Given the description of an element on the screen output the (x, y) to click on. 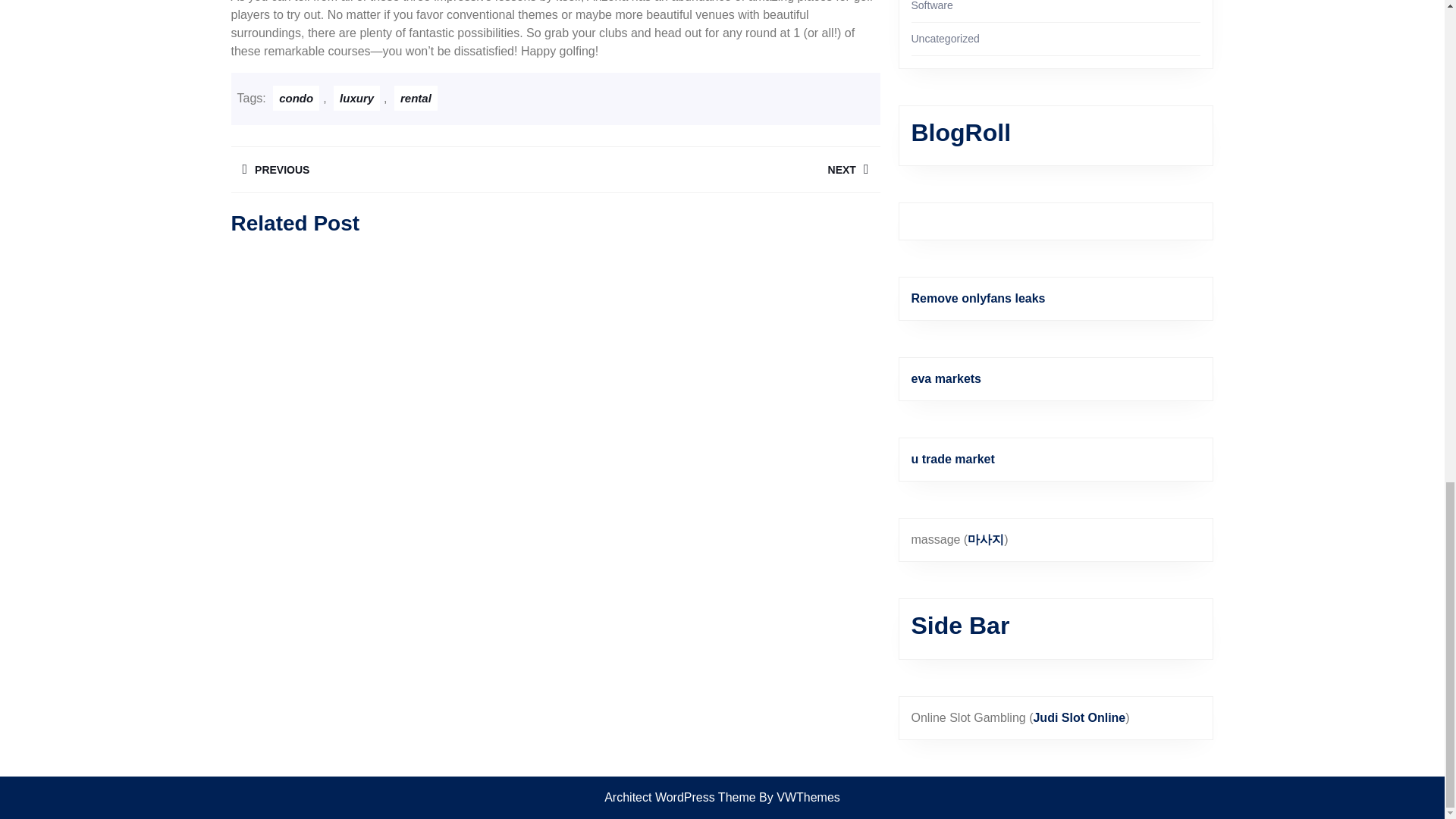
rental (416, 97)
luxury (356, 97)
condo (716, 169)
